Given the description of an element on the screen output the (x, y) to click on. 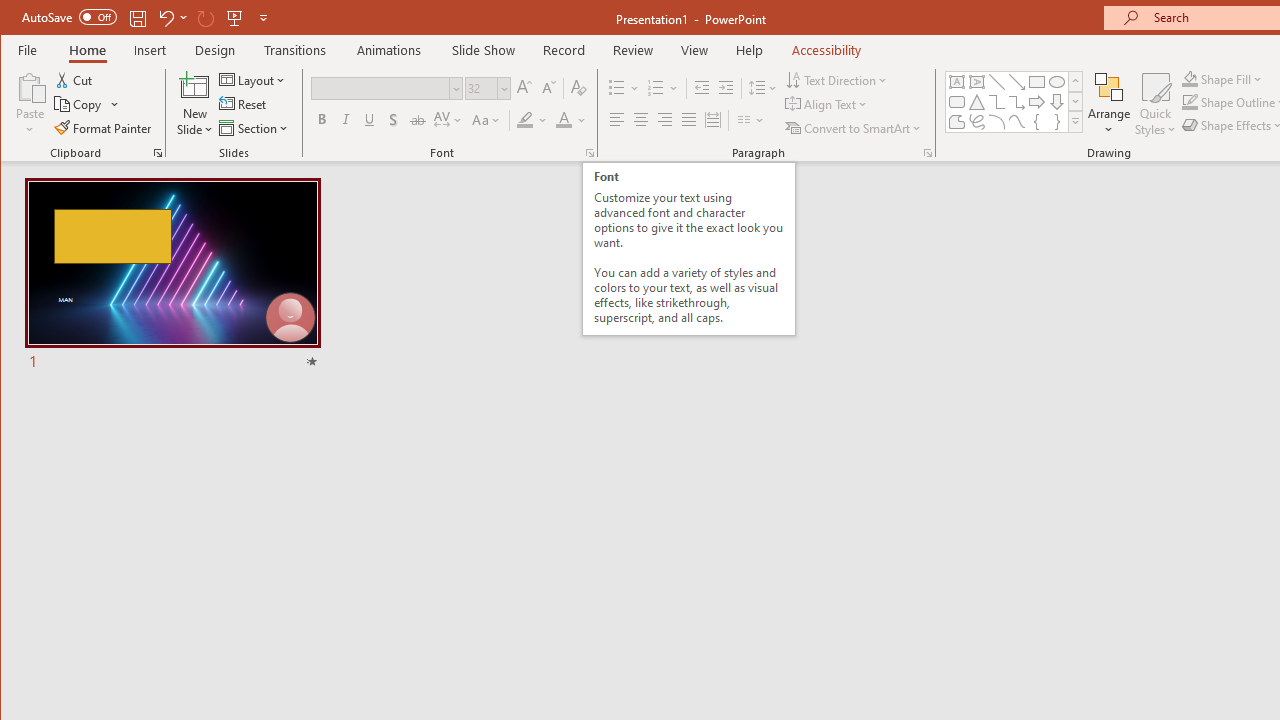
Shape Fill Orange, Accent 2 (1189, 78)
